Given the description of an element on the screen output the (x, y) to click on. 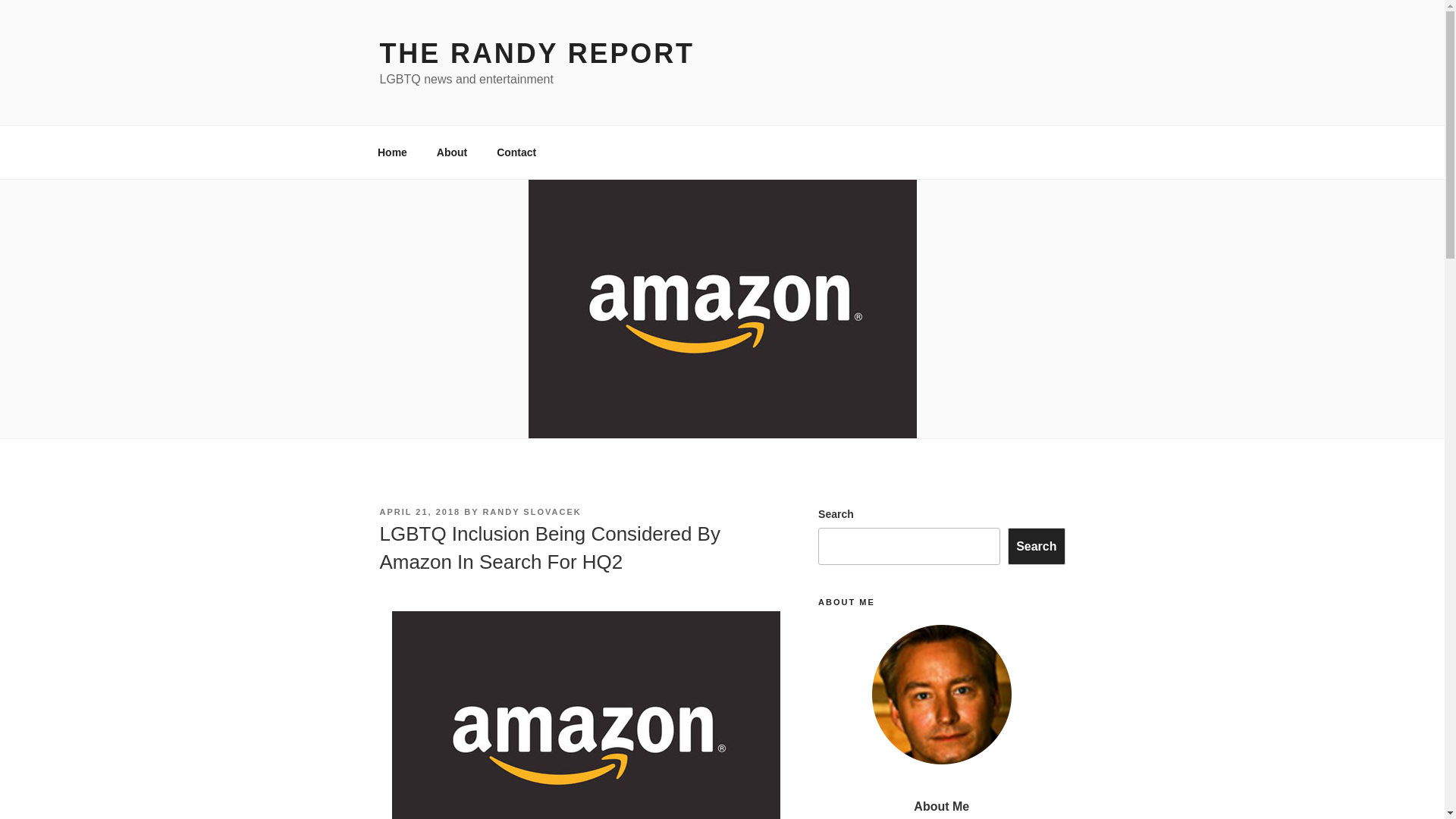
THE RANDY REPORT (536, 52)
Contact (516, 151)
About (451, 151)
Home (392, 151)
Search (1035, 545)
RANDY SLOVACEK (530, 511)
APRIL 21, 2018 (419, 511)
